Given the description of an element on the screen output the (x, y) to click on. 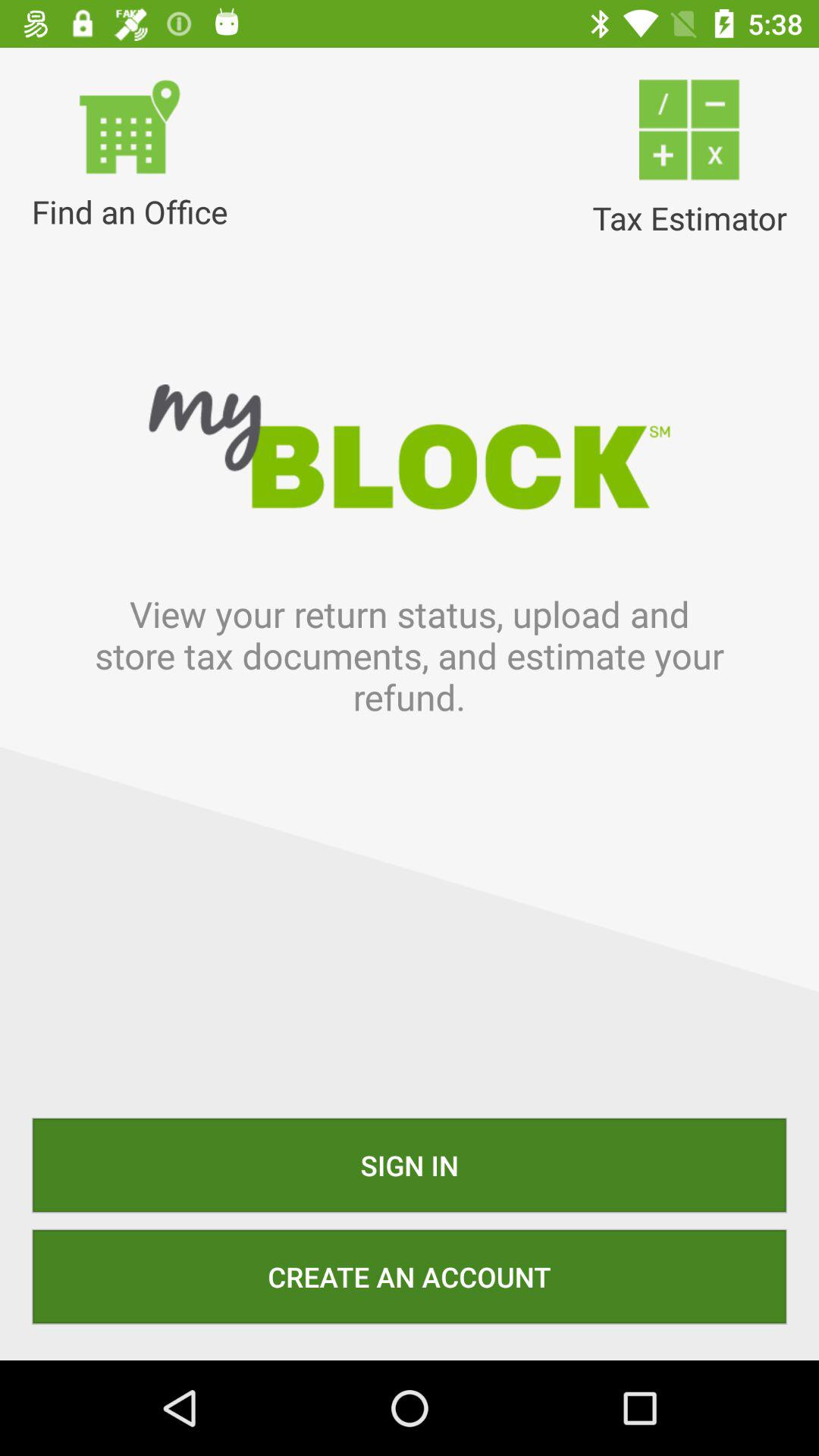
swipe to create an account (409, 1276)
